Given the description of an element on the screen output the (x, y) to click on. 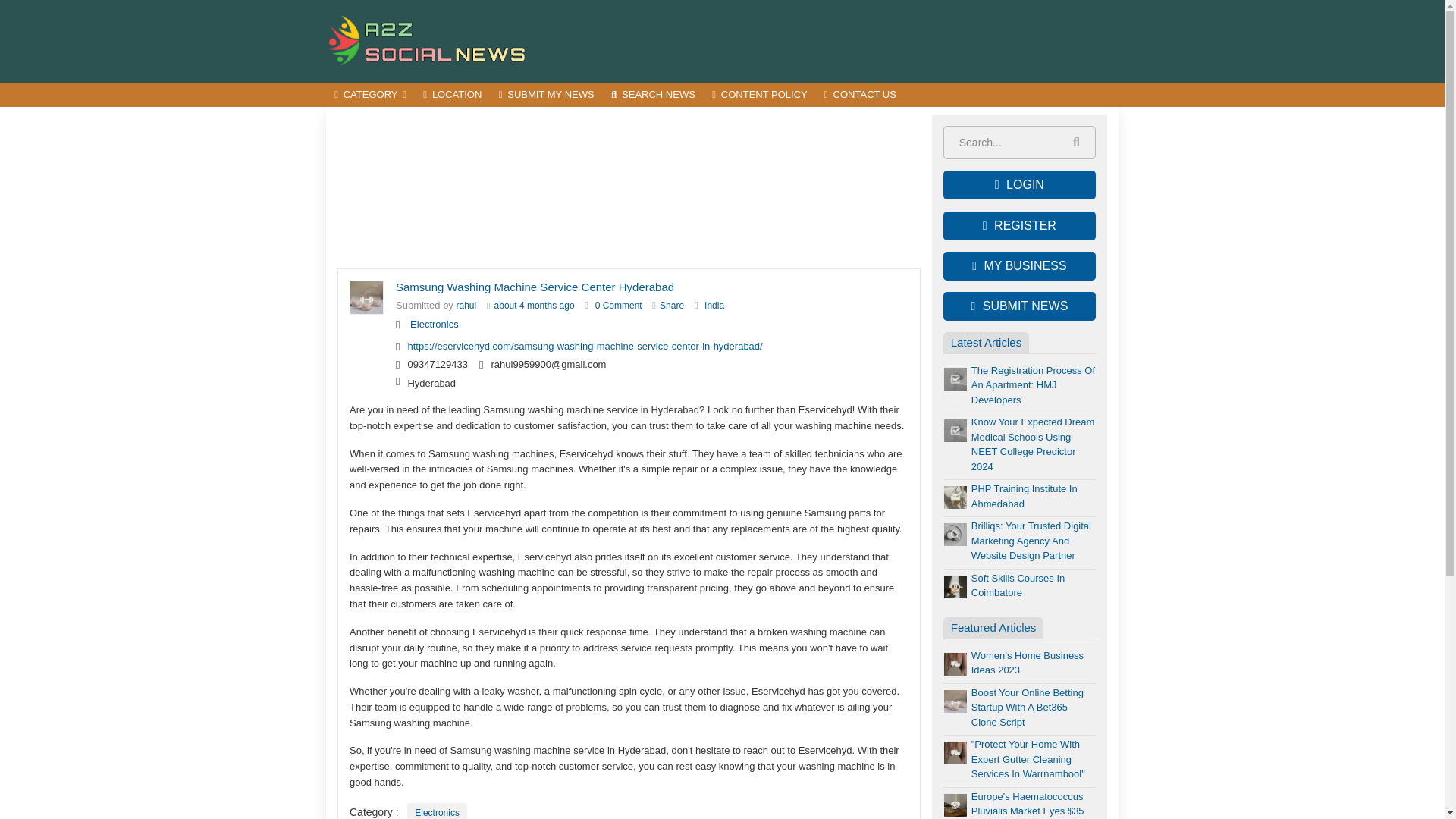
SEARCH NEWS (652, 95)
Electronics (437, 811)
Advertisement (842, 41)
Share (671, 305)
MY BUSINESS (1019, 265)
LOCATION (451, 95)
The Registration Process Of An Apartment: HMJ Developers (1032, 384)
SUBMIT MY NEWS (546, 95)
CATEGORY (370, 95)
rahul630 (467, 305)
CONTENT POLICY (759, 95)
about 4 months ago (535, 305)
CONTACT US (859, 95)
LOGIN (1019, 184)
